Given the description of an element on the screen output the (x, y) to click on. 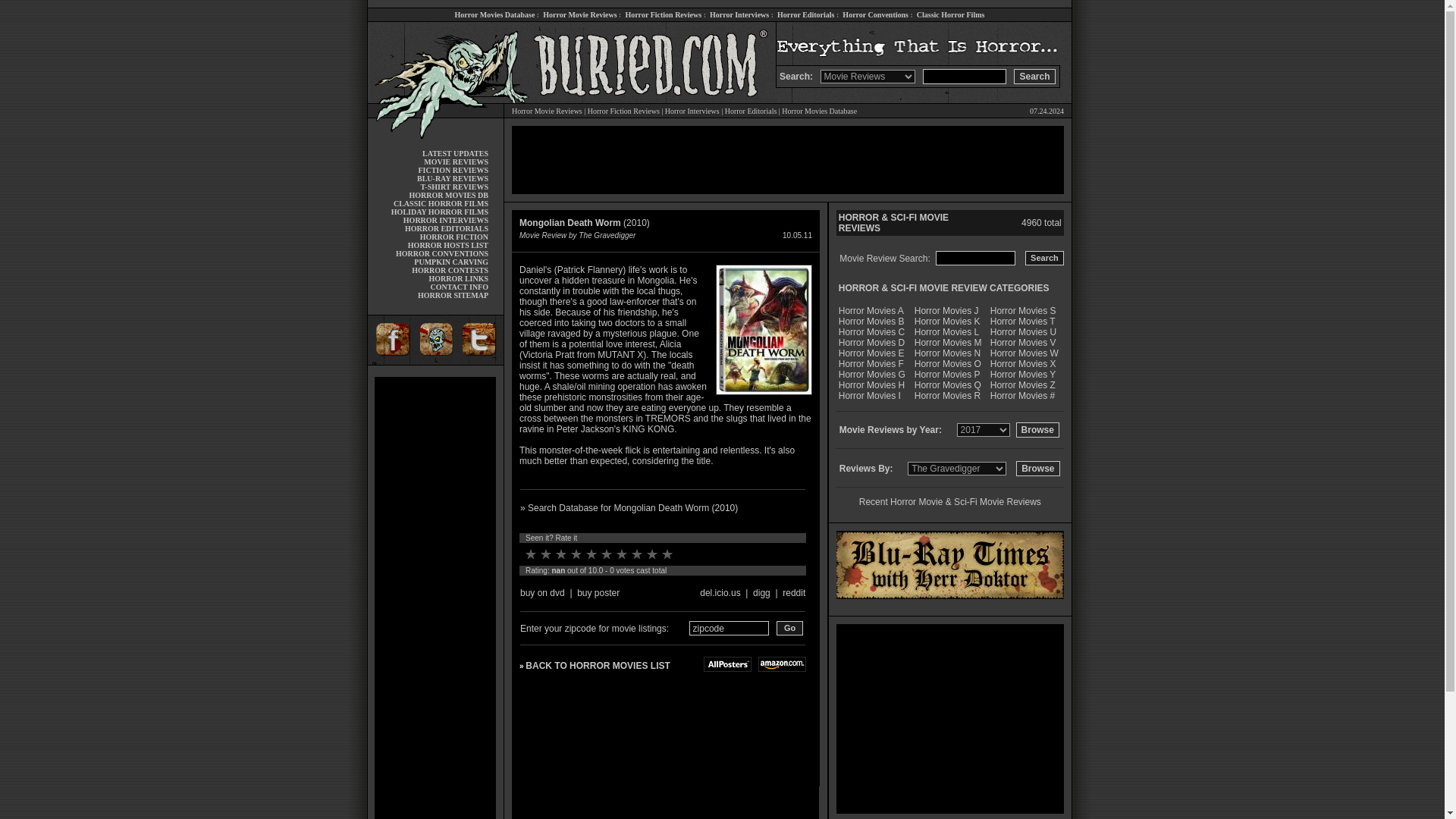
CONTACT INFO (458, 286)
Search (1033, 76)
Horror Movies Database (819, 110)
T-SHIRT REVIEWS (453, 186)
Exclusive Horror Editorials (751, 110)
Horror movies, reviews and more at buried.com (639, 84)
Horror Interviews (739, 14)
Horror movies, reviews and more at buried.com (435, 43)
HOLIDAY HORROR FILMS (439, 212)
Horror Movies Database (494, 14)
CLASSIC HORROR FILMS (440, 203)
PUMPKIN CARVING (450, 261)
HORROR EDITORIALS (445, 228)
Horror Fiction Reviews (623, 110)
Horror Editorials (751, 110)
